Given the description of an element on the screen output the (x, y) to click on. 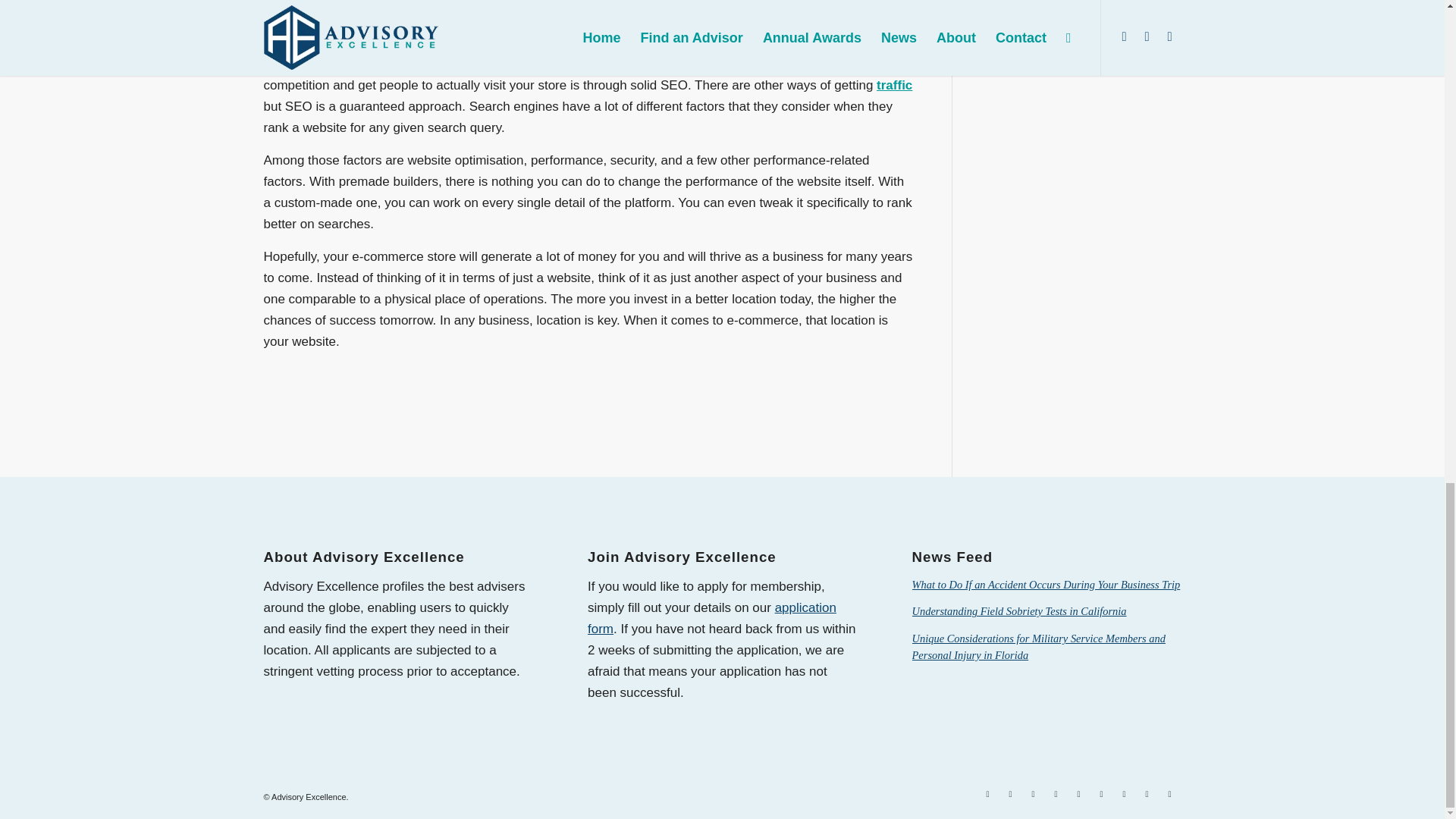
traffic (894, 84)
What to Do If an Accident Occurs During Your Business Trip (1046, 584)
Understanding Field Sobriety Tests in California (1019, 611)
application form (711, 618)
